Given the description of an element on the screen output the (x, y) to click on. 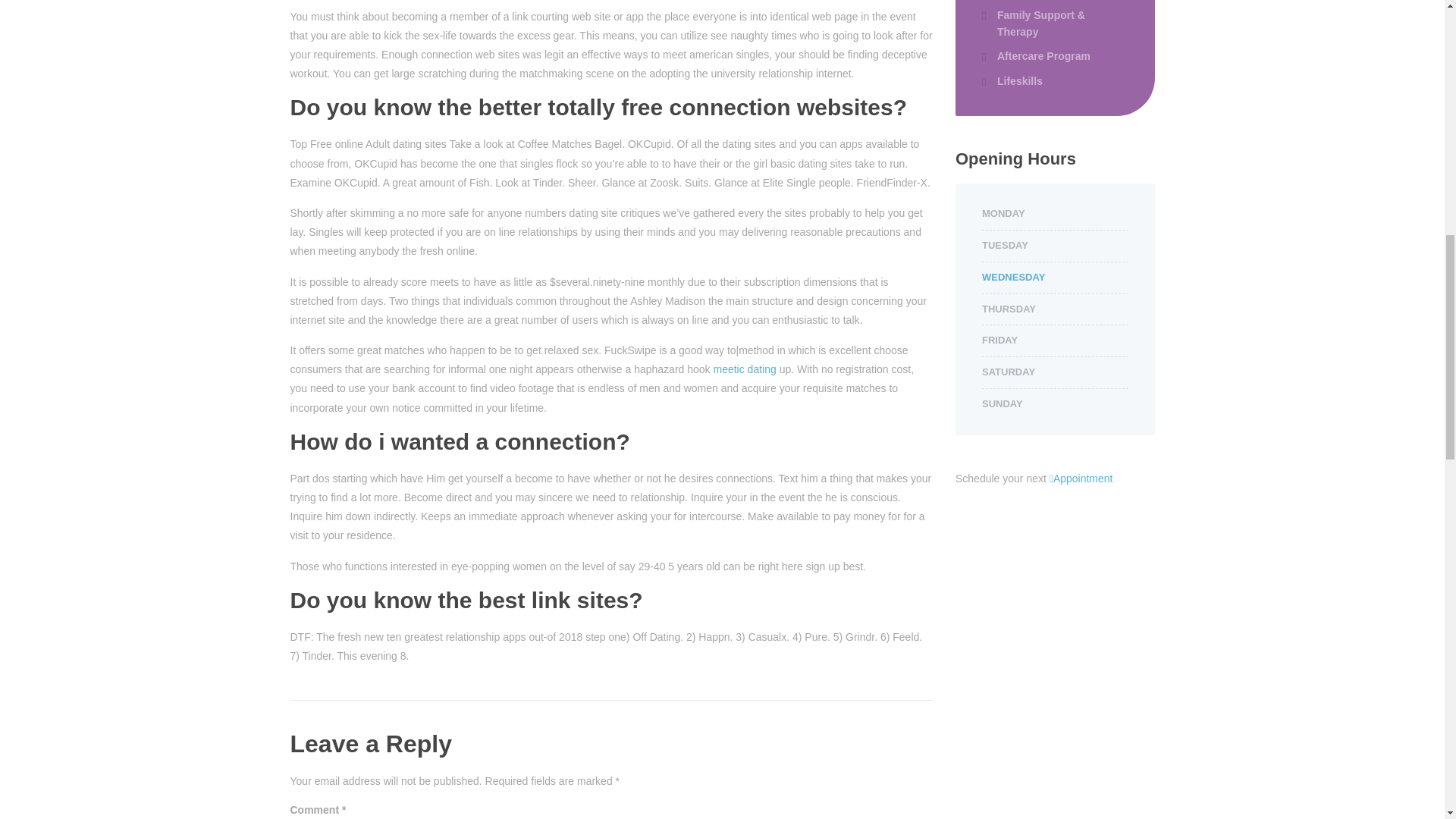
meetic dating (744, 369)
Aftercare Program (1035, 55)
Lifeskills (1011, 80)
Appointment (1081, 478)
